Given the description of an element on the screen output the (x, y) to click on. 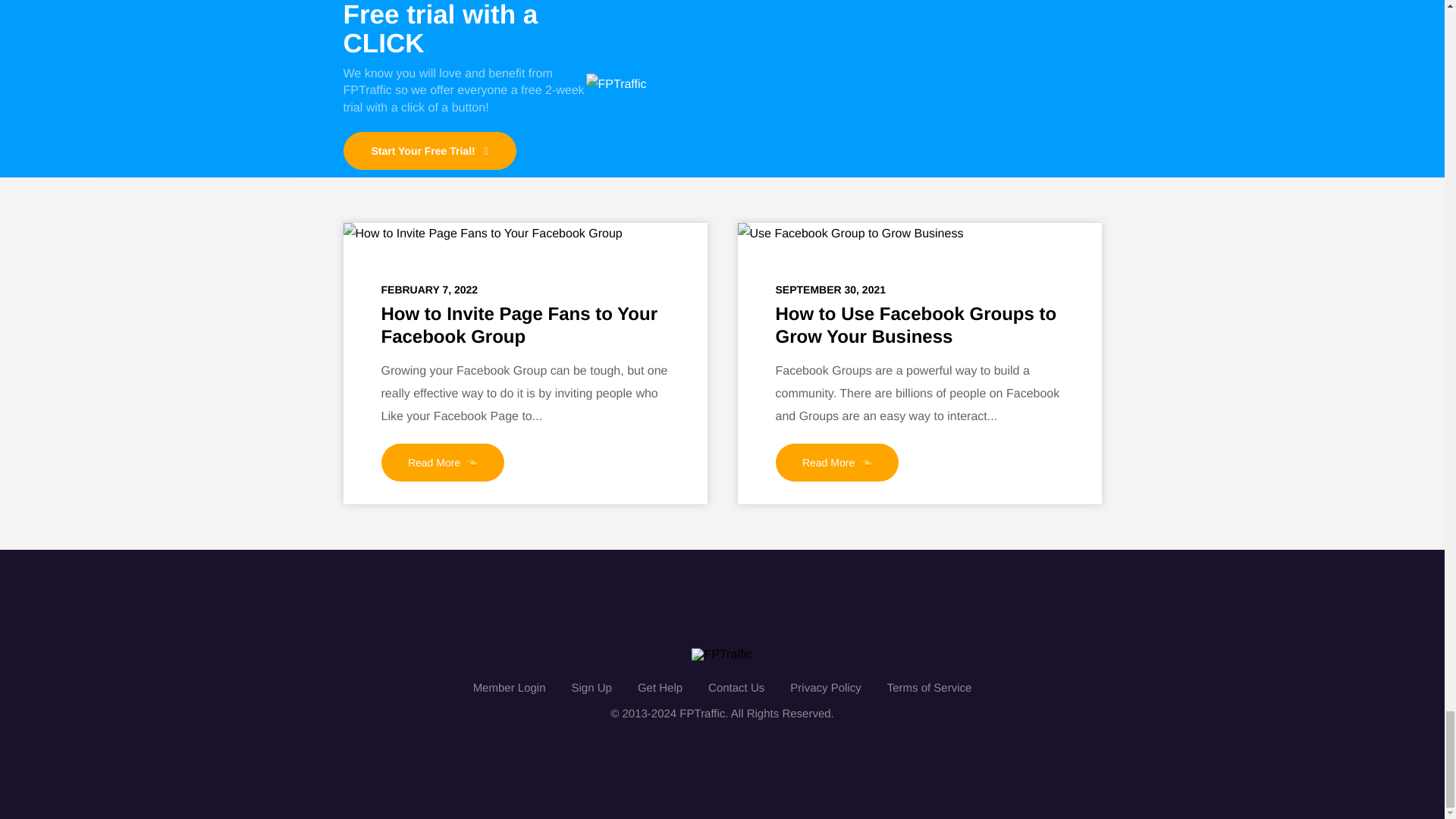
Read More (441, 462)
How to Use Facebook Groups to Grow Your Business (849, 233)
Read More (836, 462)
Start Your Free Trial!   (428, 150)
Member Login (509, 687)
How to Invite Page Fans to Your Facebook Group (519, 325)
How to Invite Page Fans to Your Facebook Group (481, 233)
How to Use Facebook Groups to Grow Your Business (915, 325)
